Given the description of an element on the screen output the (x, y) to click on. 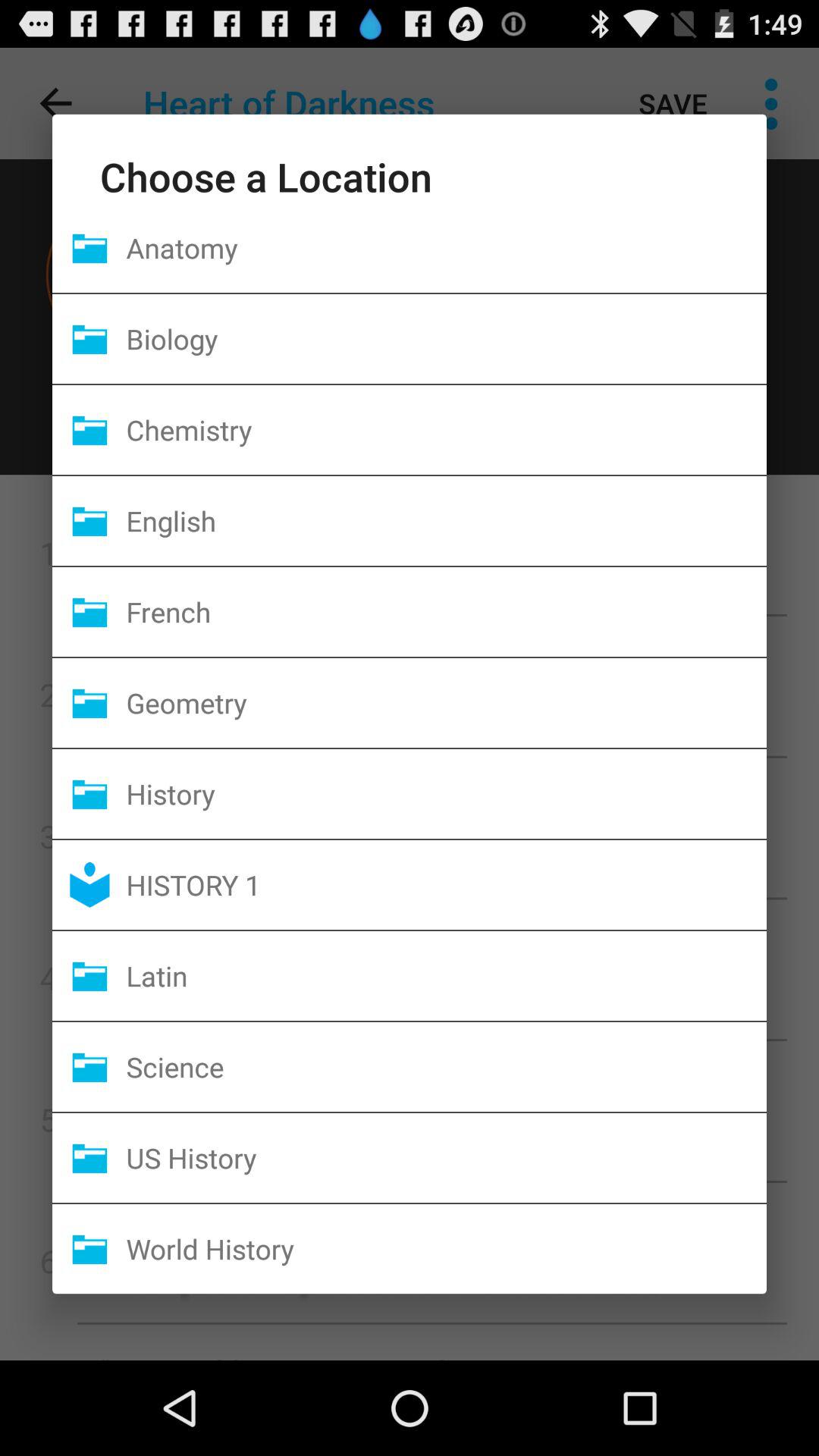
turn on the us history item (446, 1157)
